Given the description of an element on the screen output the (x, y) to click on. 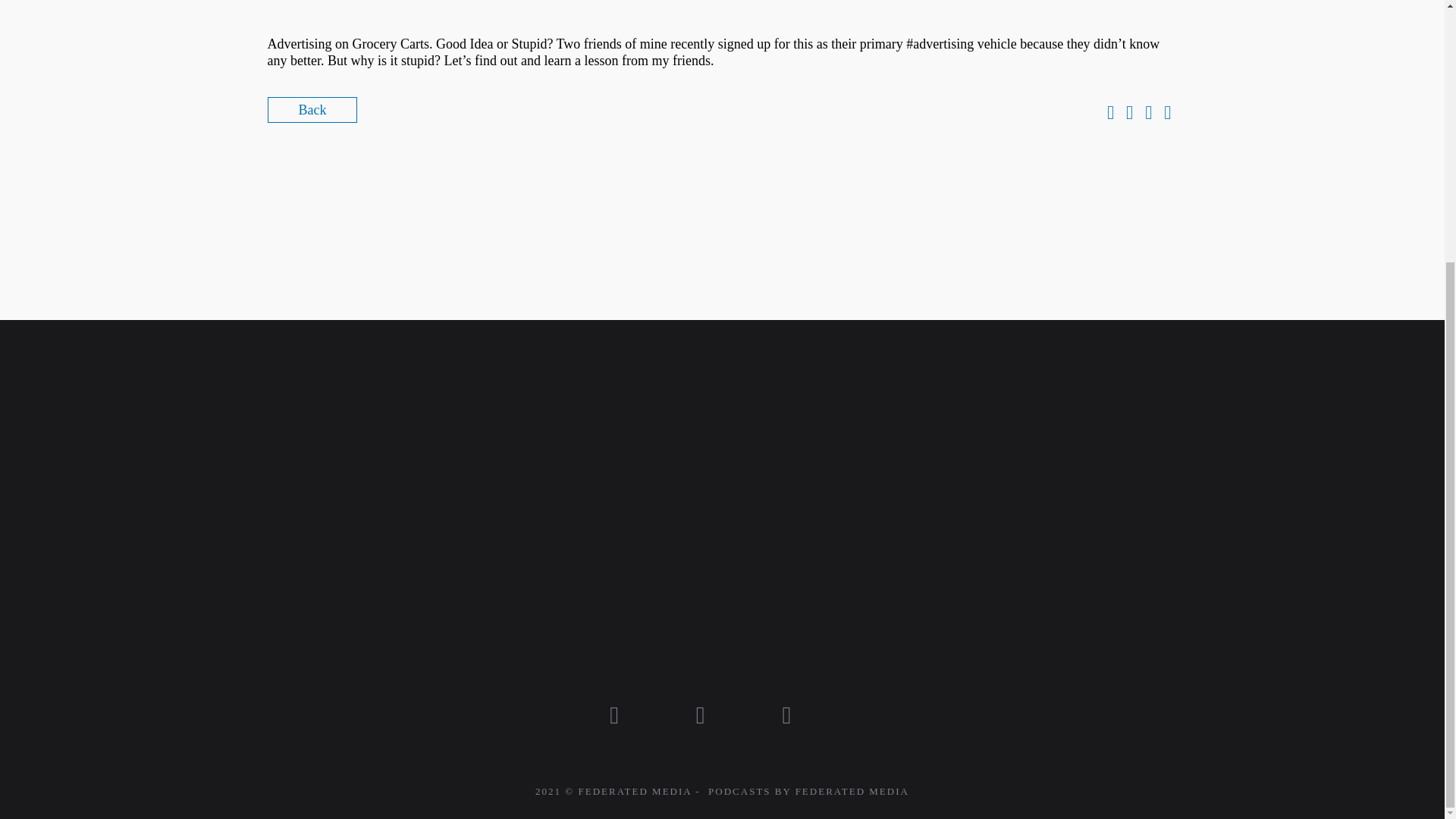
Share on LinkedIn (1147, 114)
Share on Pinterest (1166, 114)
Share on Facebook (1109, 114)
Share on Twitter (1128, 114)
